Given the description of an element on the screen output the (x, y) to click on. 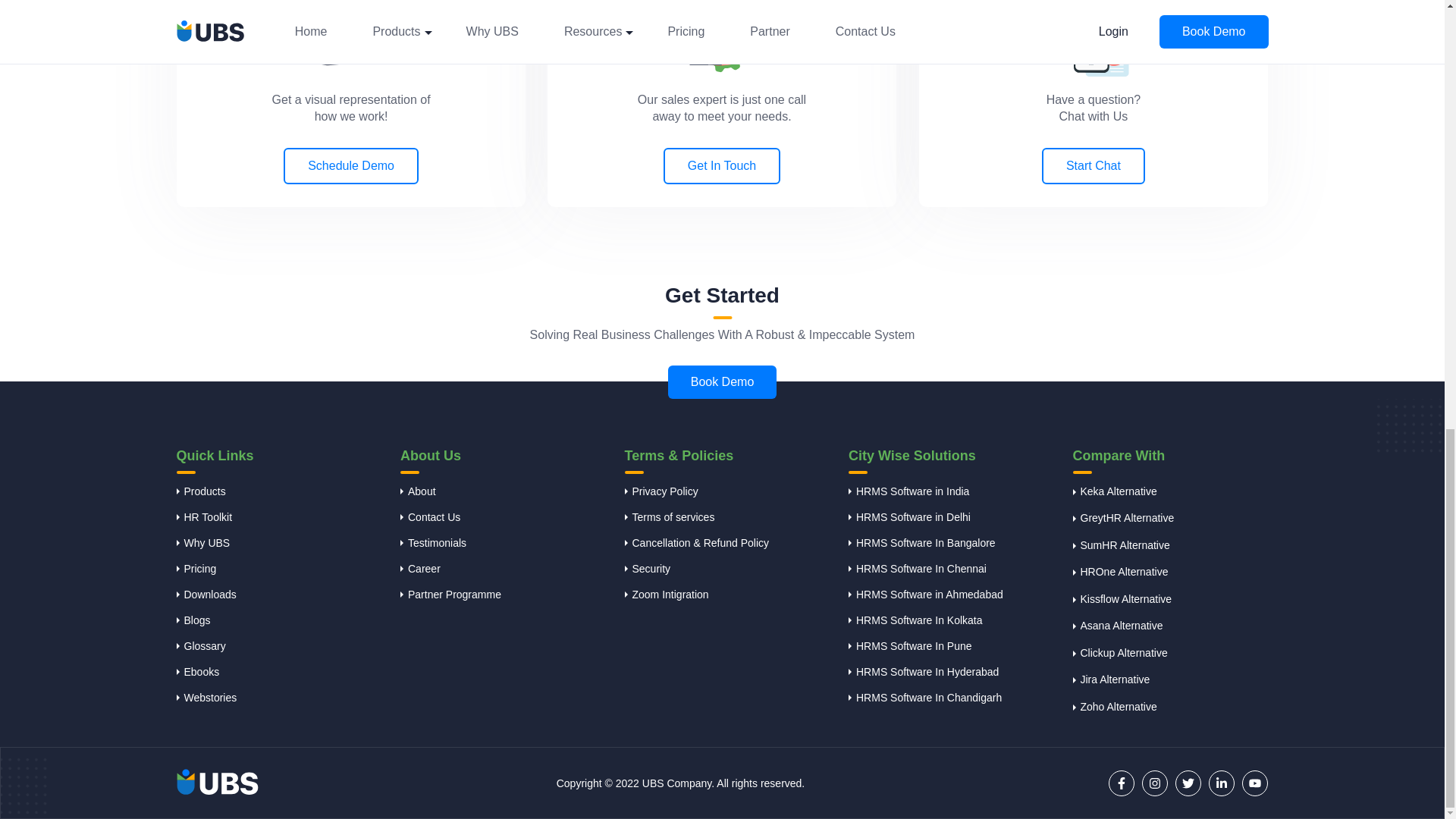
UBS (217, 782)
Start Chat (1093, 38)
Watch a Demo (350, 33)
Get in Touch (722, 36)
